Given the description of an element on the screen output the (x, y) to click on. 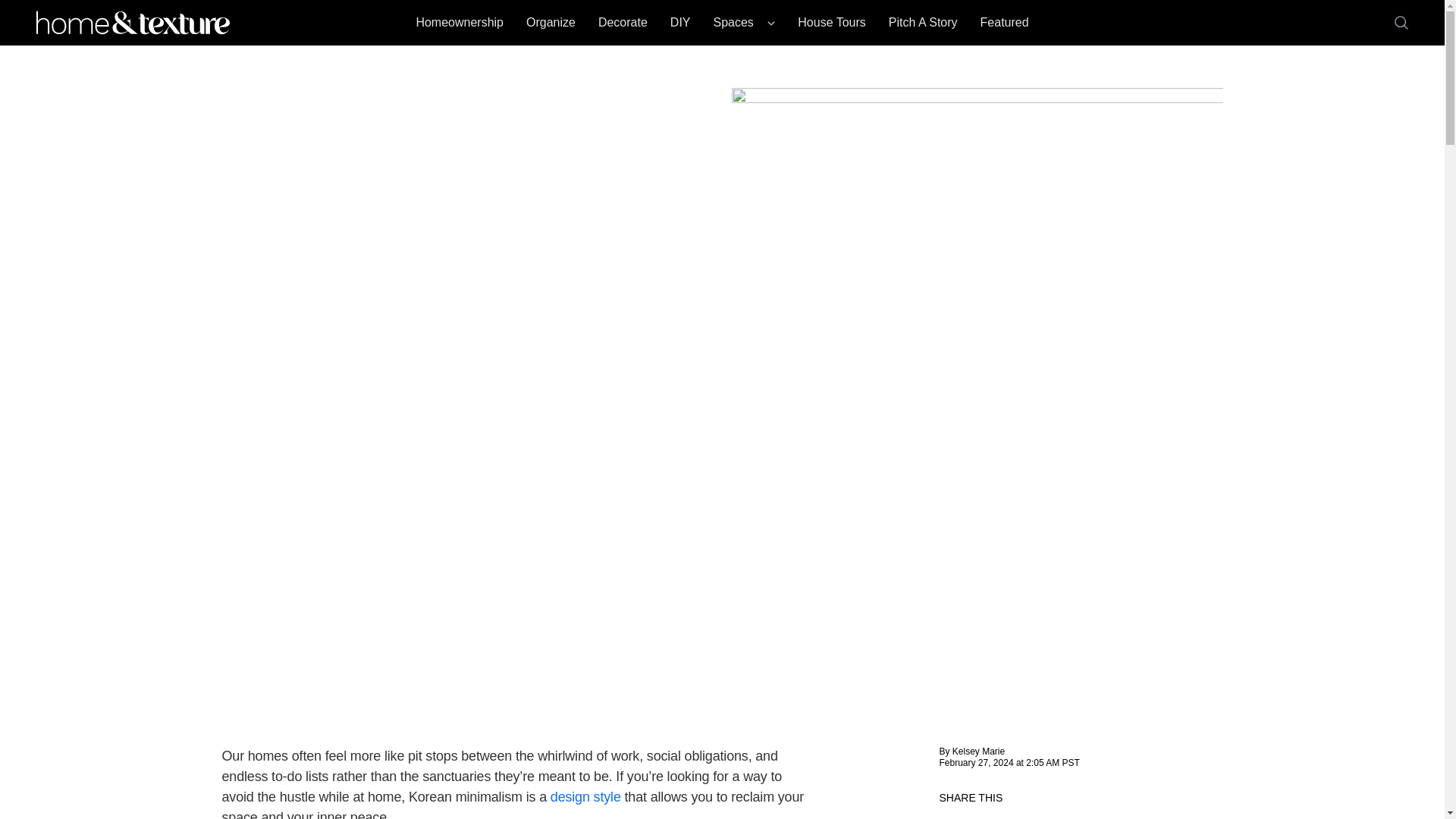
Decorate (622, 22)
Pitch A Story (922, 22)
Homeownership (459, 22)
DIY (680, 22)
Organize (549, 22)
House Tours (832, 22)
Spaces (743, 22)
Featured (1004, 22)
